Given the description of an element on the screen output the (x, y) to click on. 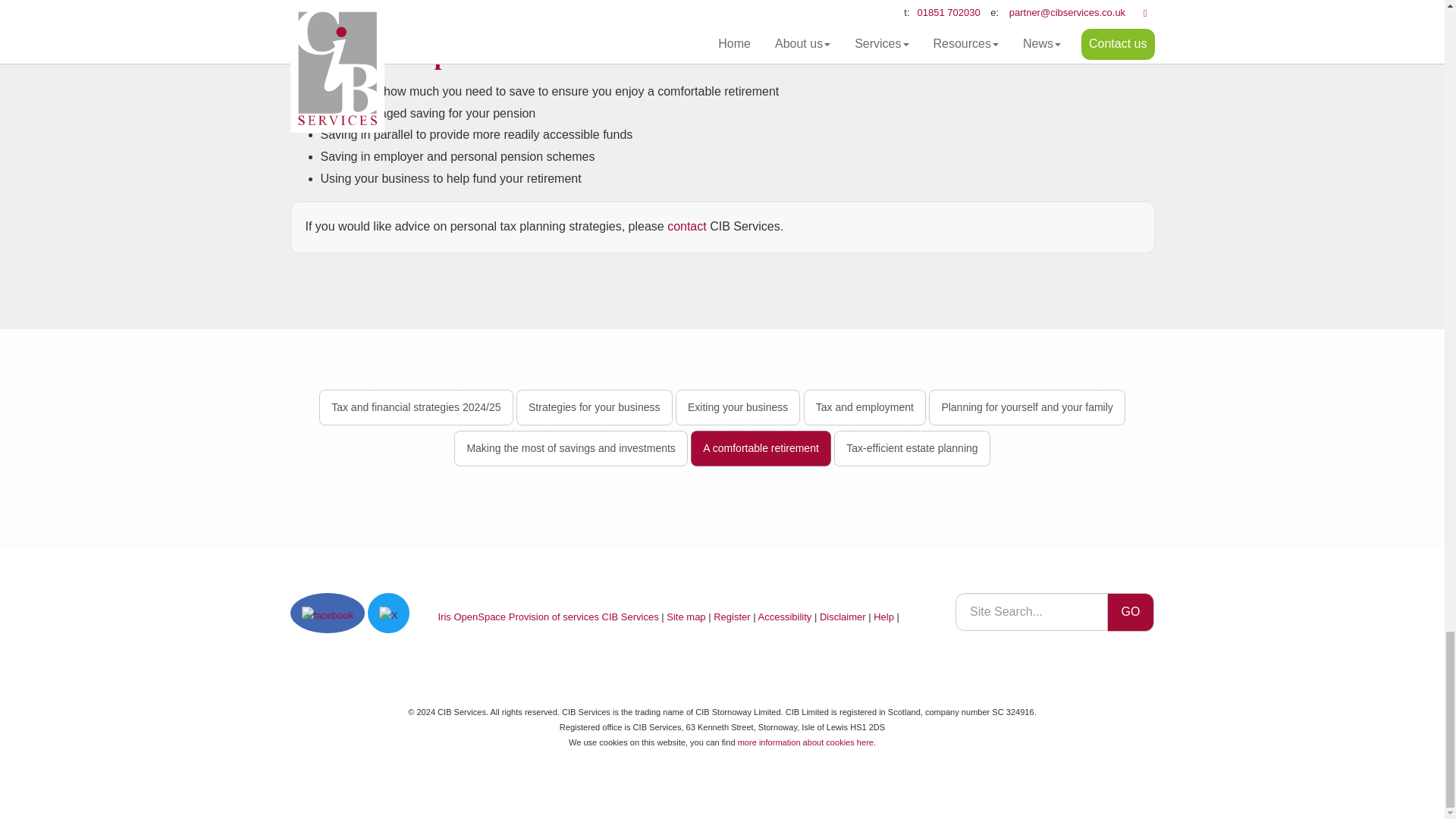
contact (686, 226)
A comfortable retirement (760, 448)
Tax and employment (864, 407)
Strategies for your business (594, 407)
Planning for yourself and your family (1026, 407)
Making the most of savings and investments (570, 448)
Exiting your business (737, 407)
